Given the description of an element on the screen output the (x, y) to click on. 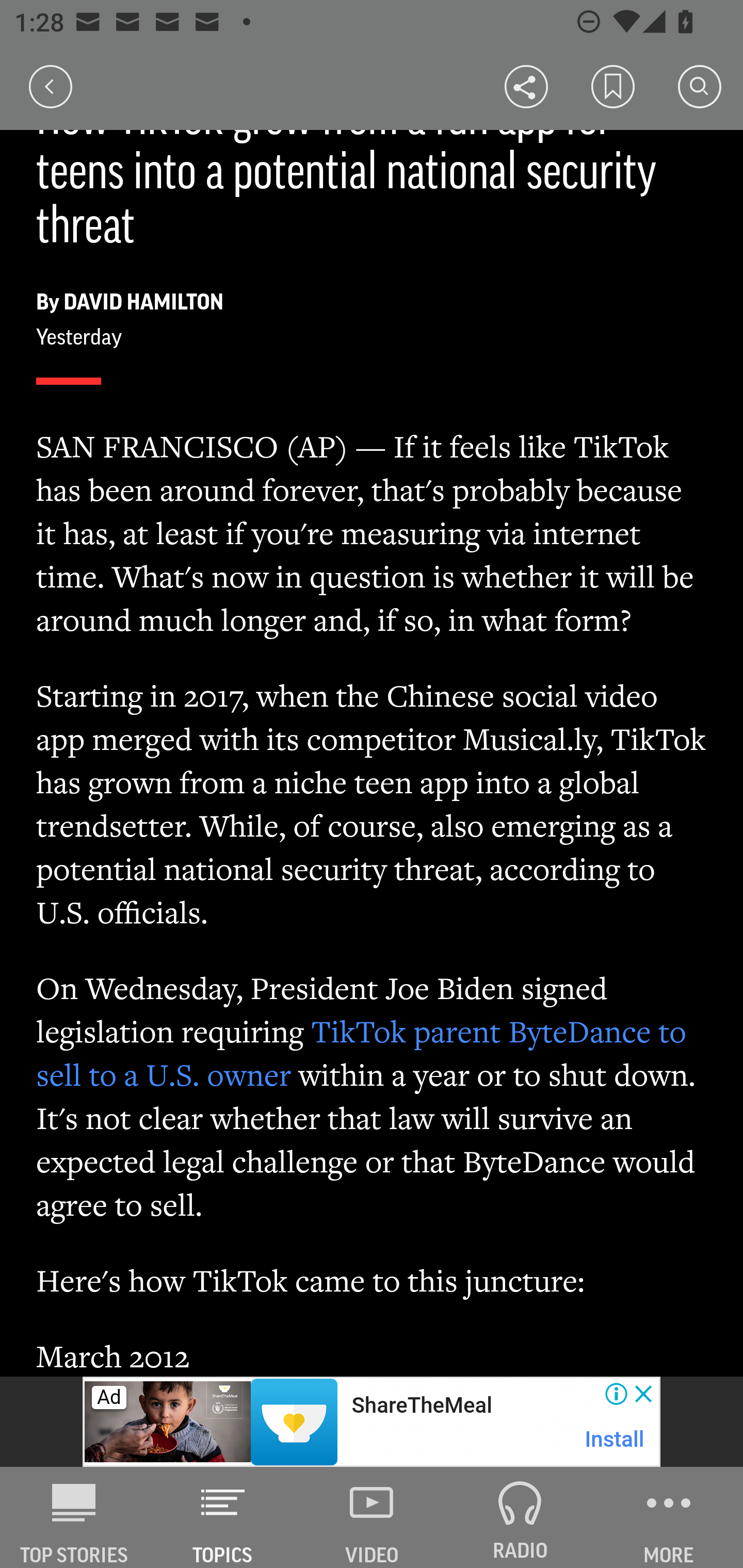
TikTok parent ByteDance to sell to a U.S. owner (362, 1052)
ShareTheMeal (420, 1405)
Install (614, 1438)
AP News TOP STORIES (74, 1517)
TOPICS (222, 1517)
VIDEO (371, 1517)
RADIO (519, 1517)
MORE (668, 1517)
